Given the description of an element on the screen output the (x, y) to click on. 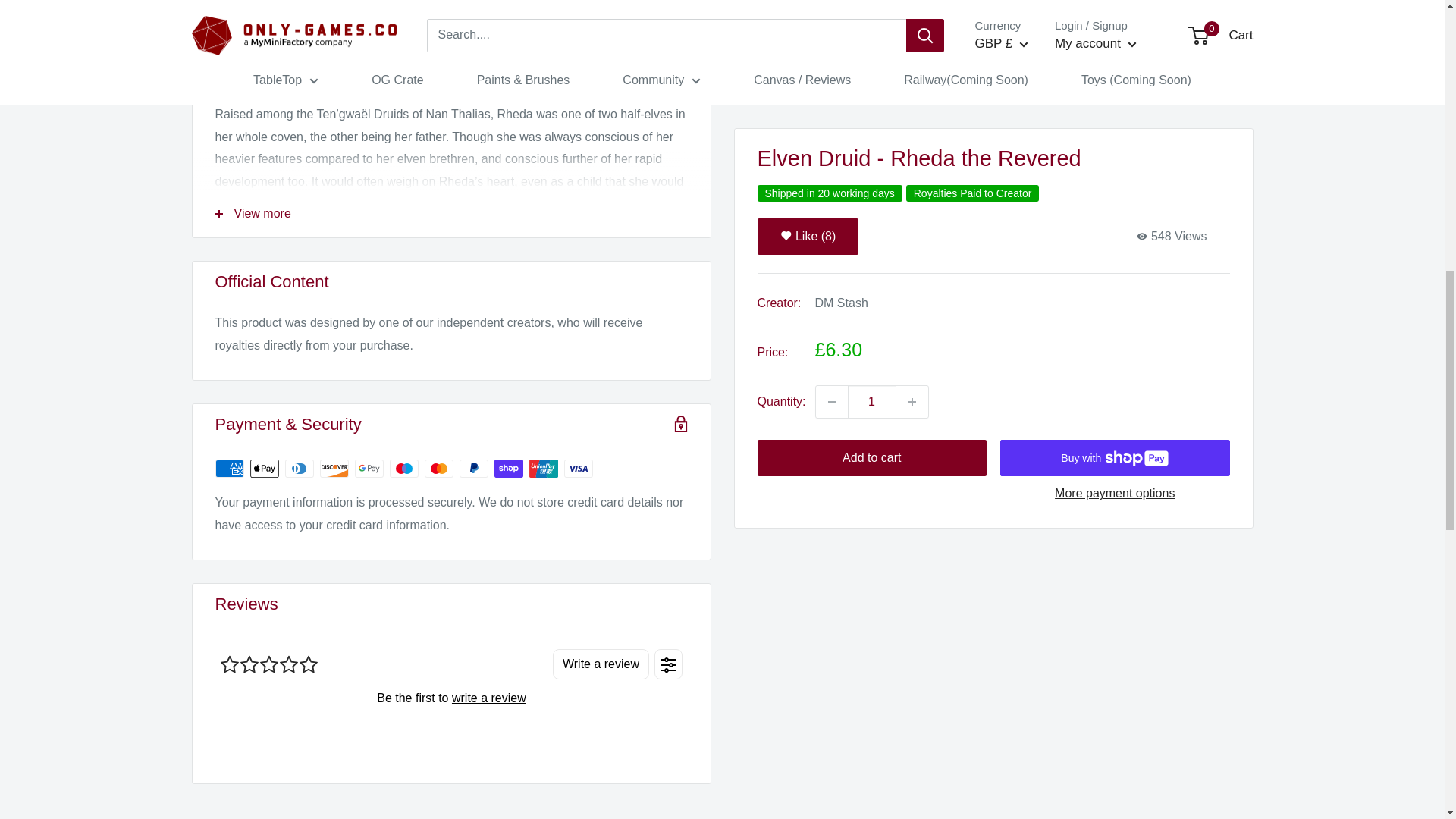
Product reviews widget (451, 696)
